Given the description of an element on the screen output the (x, y) to click on. 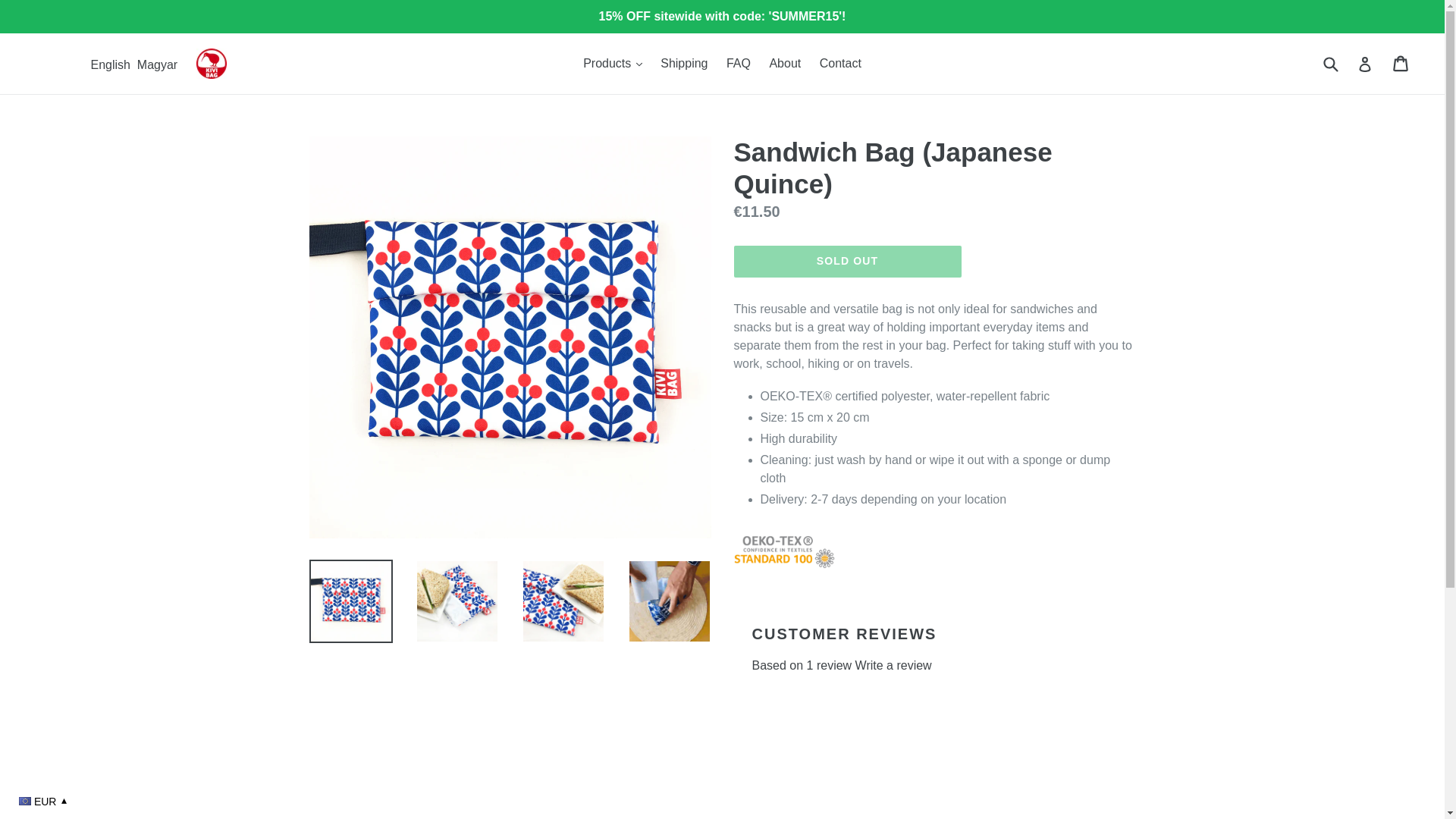
English (109, 64)
Magyar (156, 64)
